Given the description of an element on the screen output the (x, y) to click on. 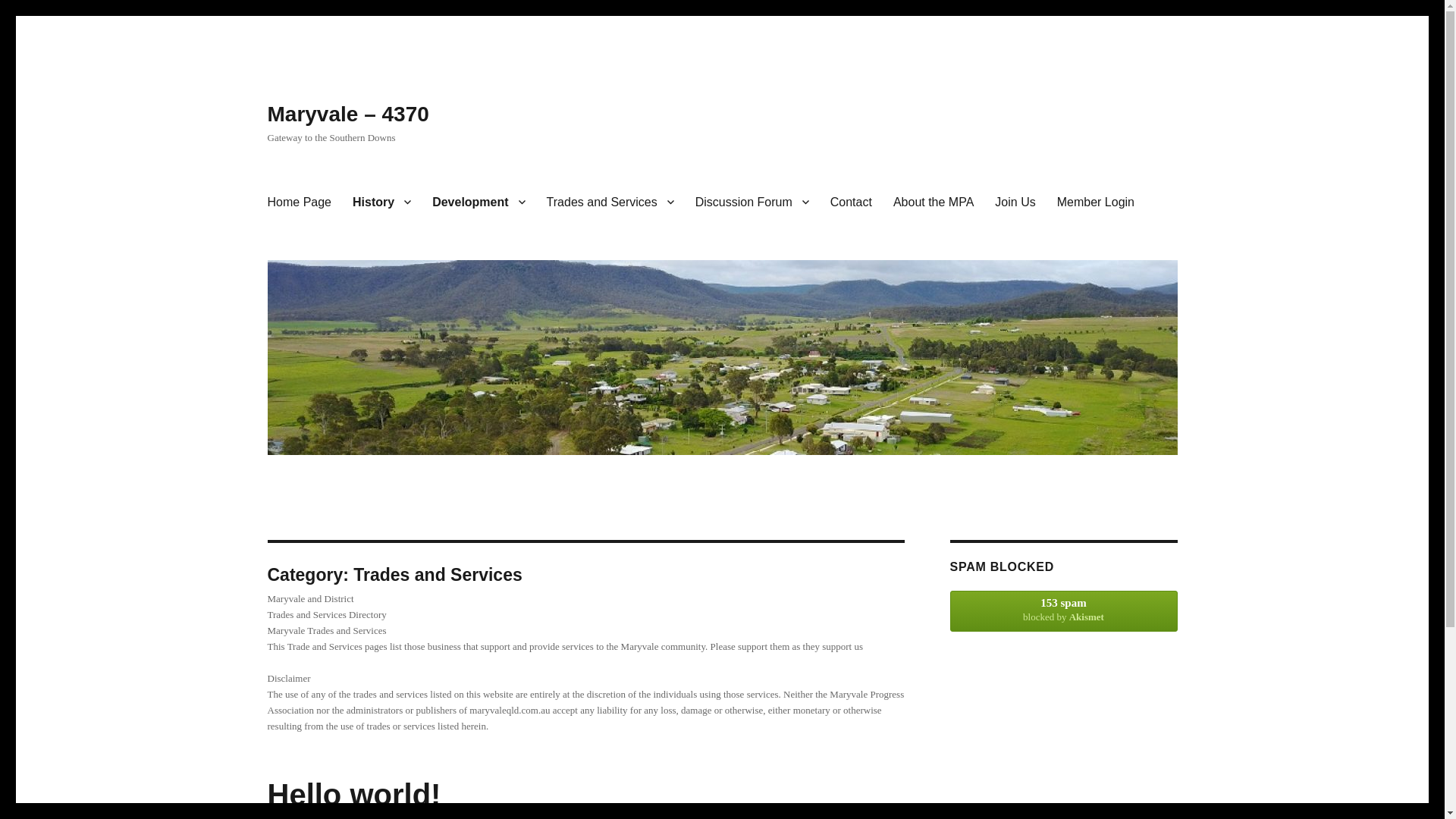
Contact Element type: text (850, 201)
Discussion Forum Element type: text (751, 201)
Member Login Element type: text (1095, 201)
History Element type: text (381, 201)
About the MPA Element type: text (933, 201)
Join Us Element type: text (1014, 201)
Development Element type: text (478, 201)
Trades and Services Element type: text (610, 201)
Home Page Element type: text (299, 201)
Hello world! Element type: text (353, 794)
153 spam
blocked by Akismet Element type: text (1062, 610)
